Given the description of an element on the screen output the (x, y) to click on. 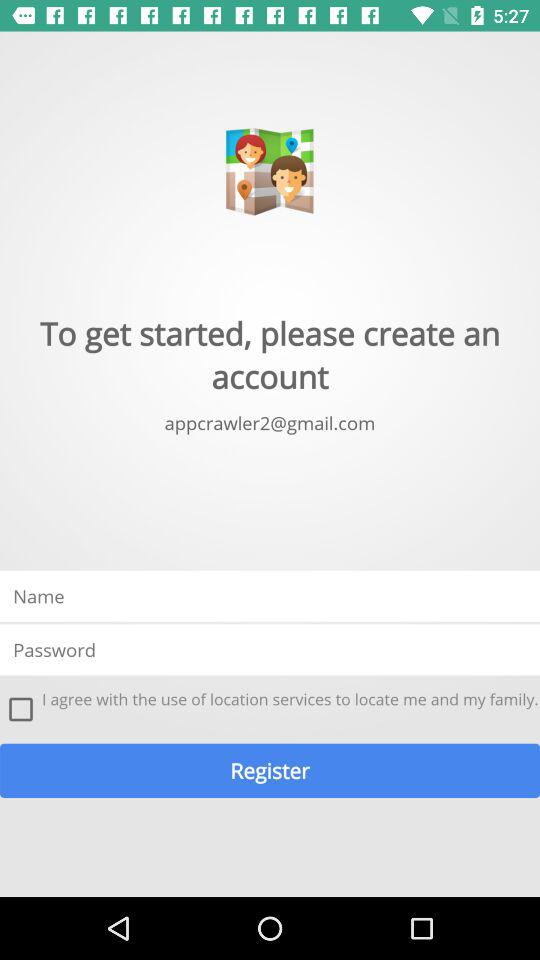
launch icon next to the i agree with icon (21, 709)
